Given the description of an element on the screen output the (x, y) to click on. 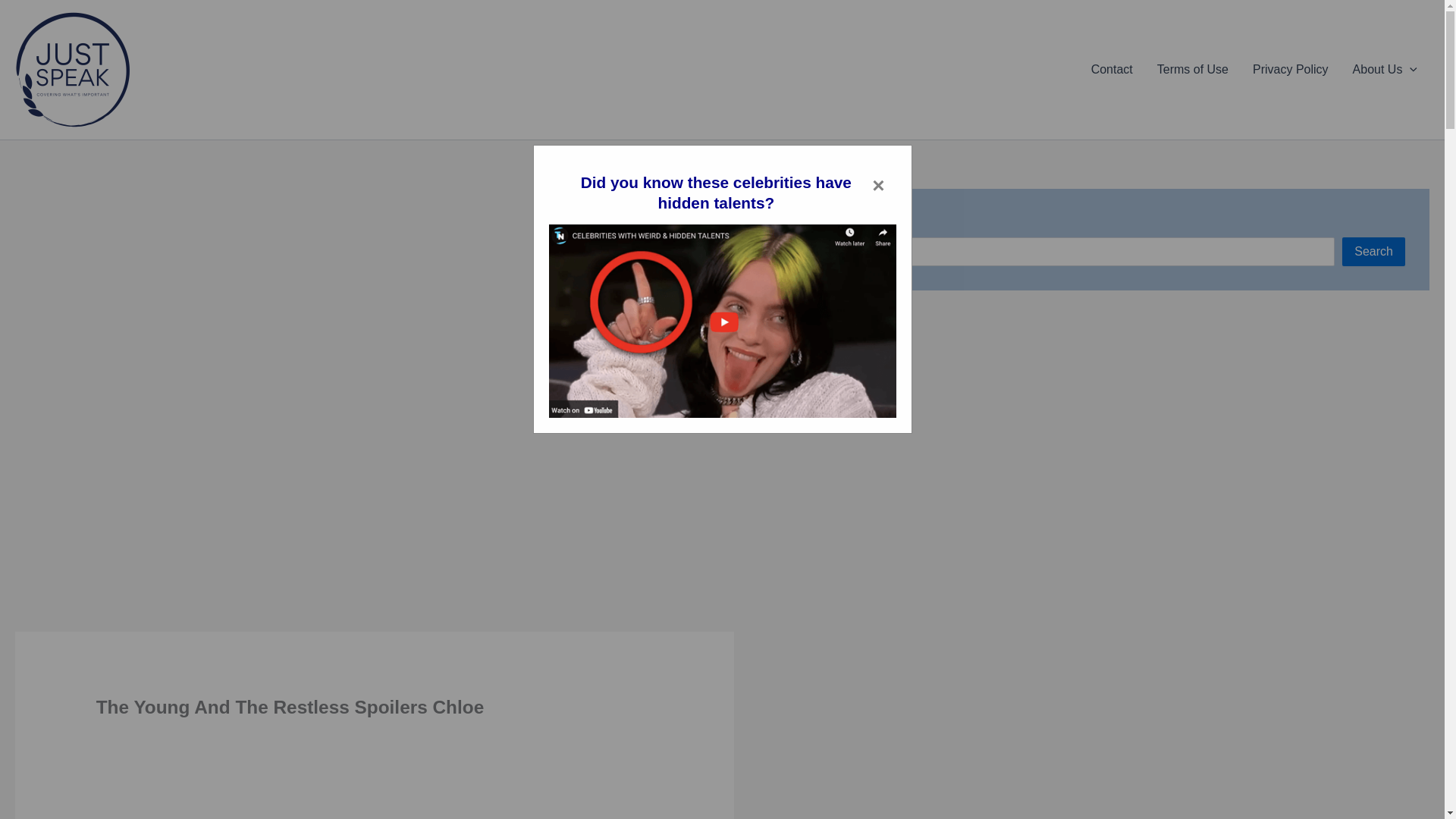
Privacy Policy (1290, 69)
About Us (1384, 69)
Terms of Use (1192, 69)
Contact (1111, 69)
Advertisement (374, 780)
